Given the description of an element on the screen output the (x, y) to click on. 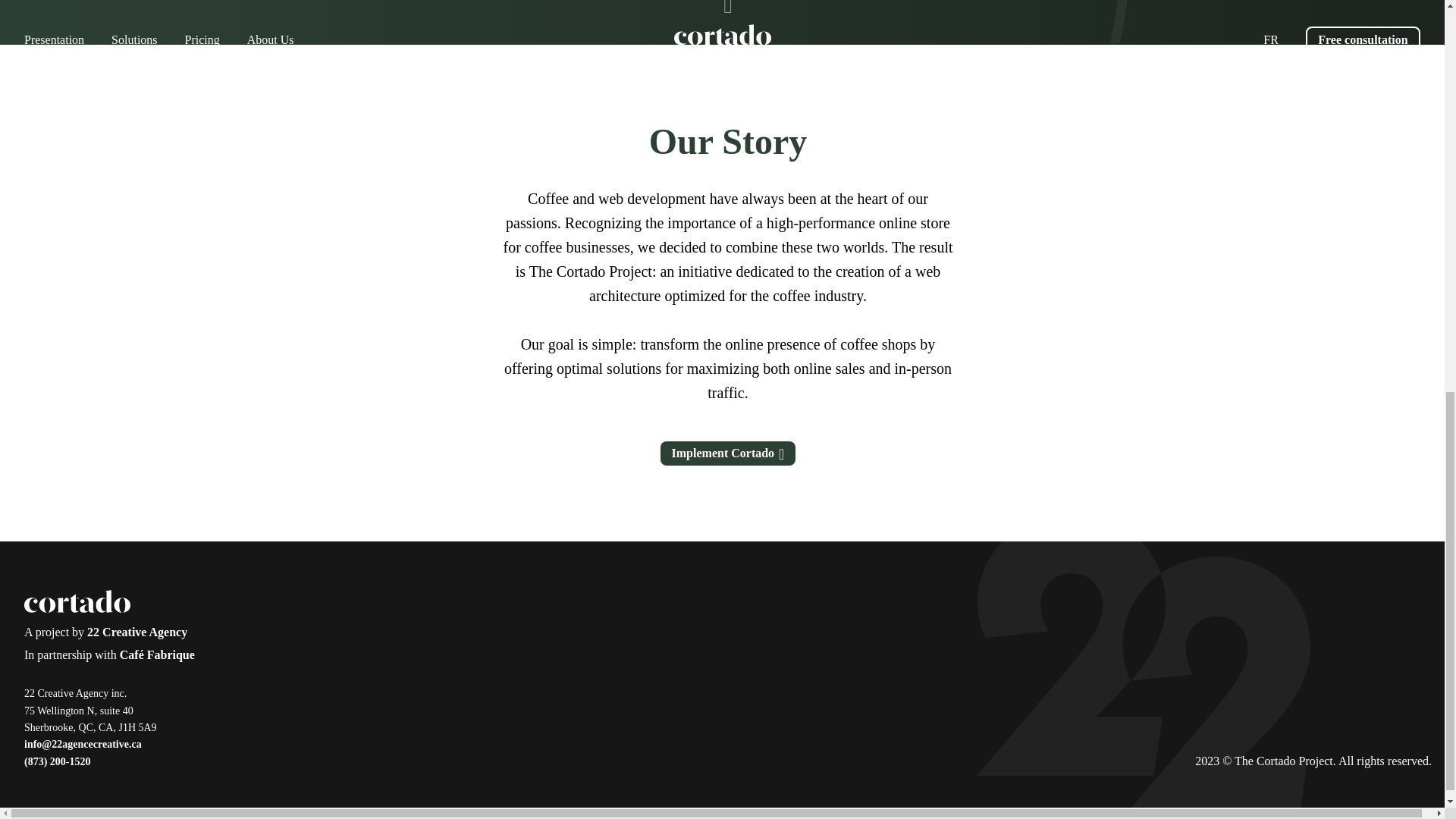
Projet Cortado (77, 604)
Email (82, 744)
22 Creative Agency (137, 631)
22 Creative Agency (137, 631)
